Given the description of an element on the screen output the (x, y) to click on. 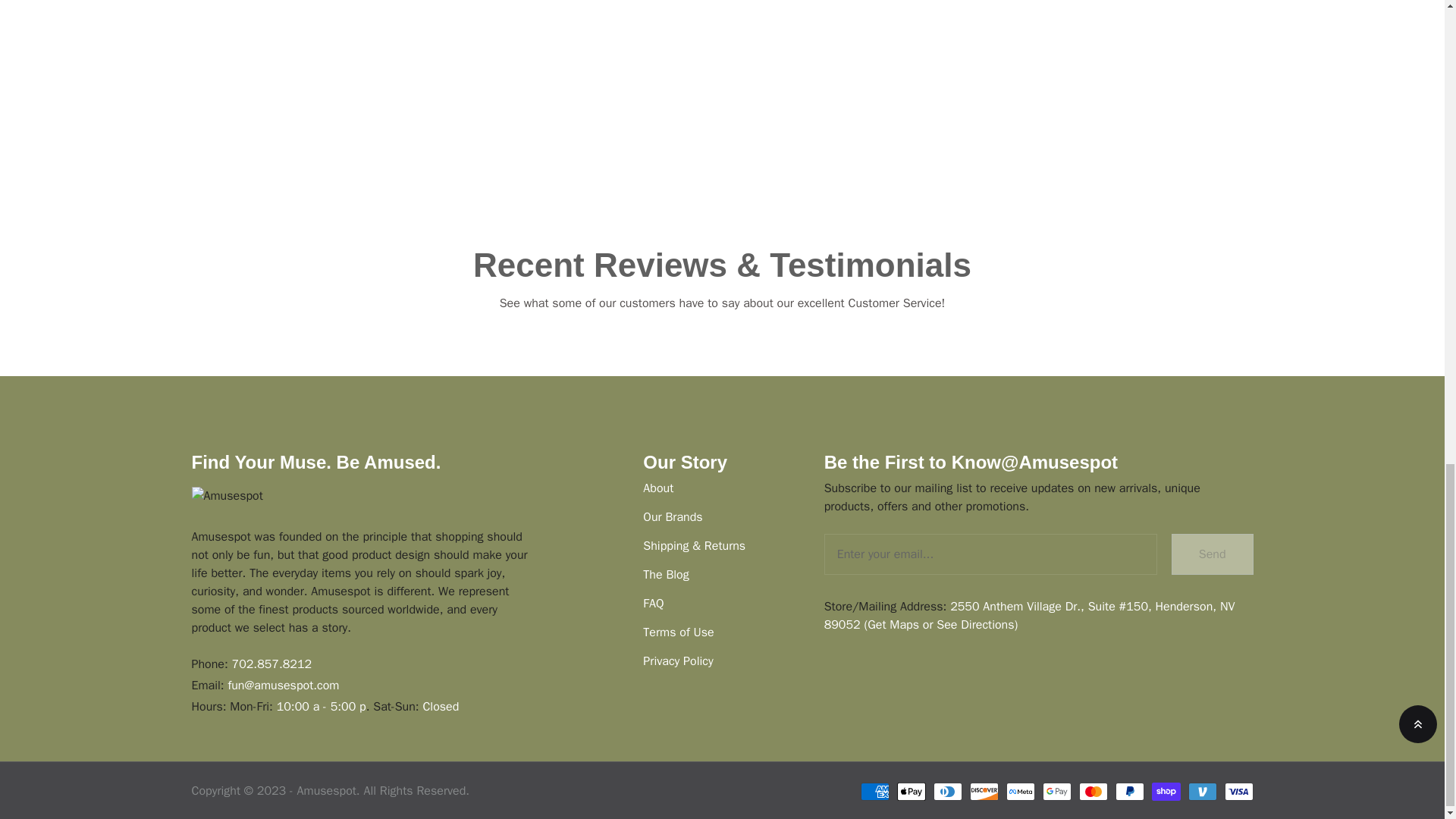
Diners Club (946, 791)
Apple Pay (910, 791)
Google Pay (1056, 791)
Meta Pay (1019, 791)
Mastercard (1092, 791)
American Express (874, 791)
Discover (983, 791)
